Given the description of an element on the screen output the (x, y) to click on. 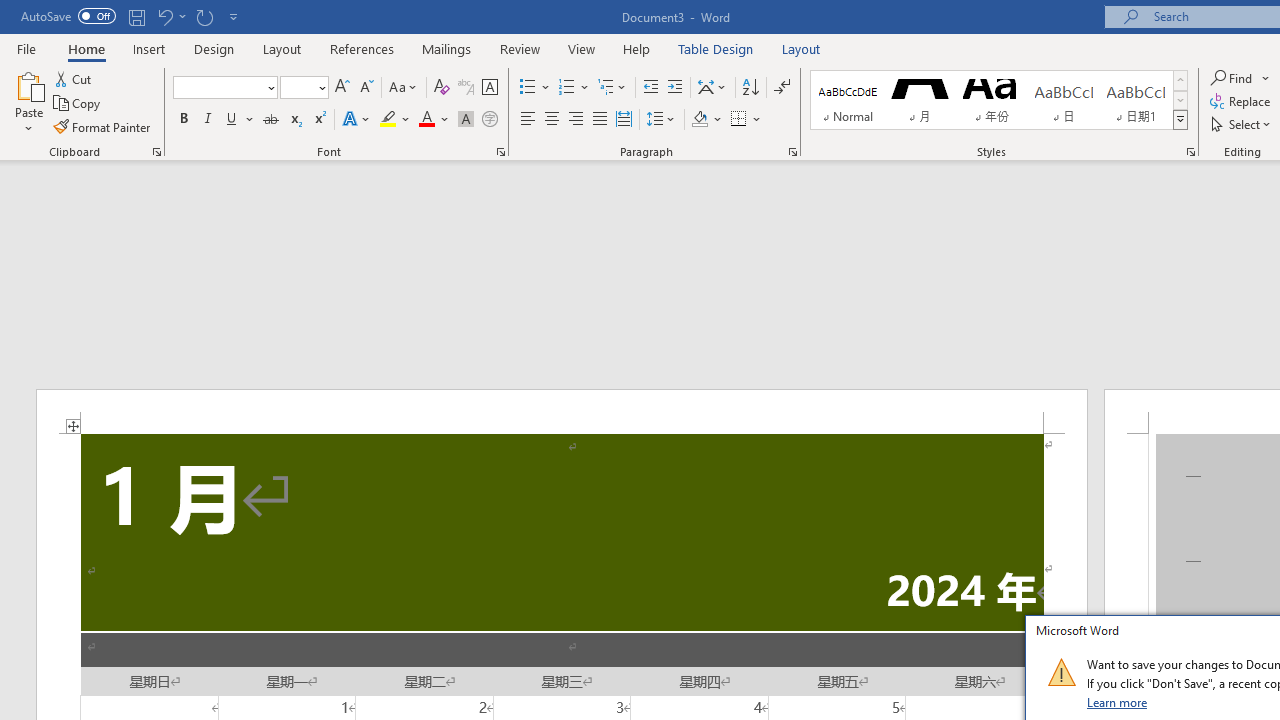
Distributed (623, 119)
